Given the description of an element on the screen output the (x, y) to click on. 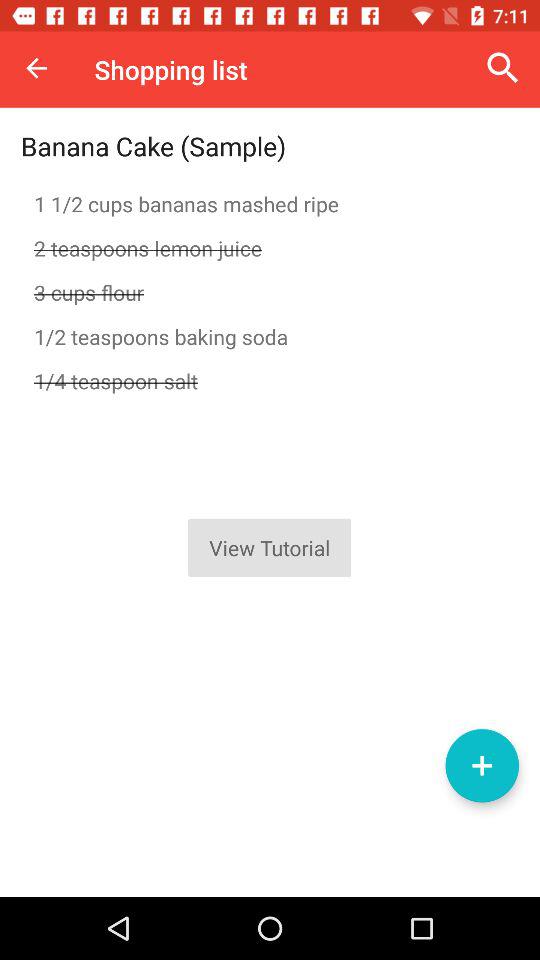
tap the icon below the 1 4 teaspoon item (482, 765)
